Given the description of an element on the screen output the (x, y) to click on. 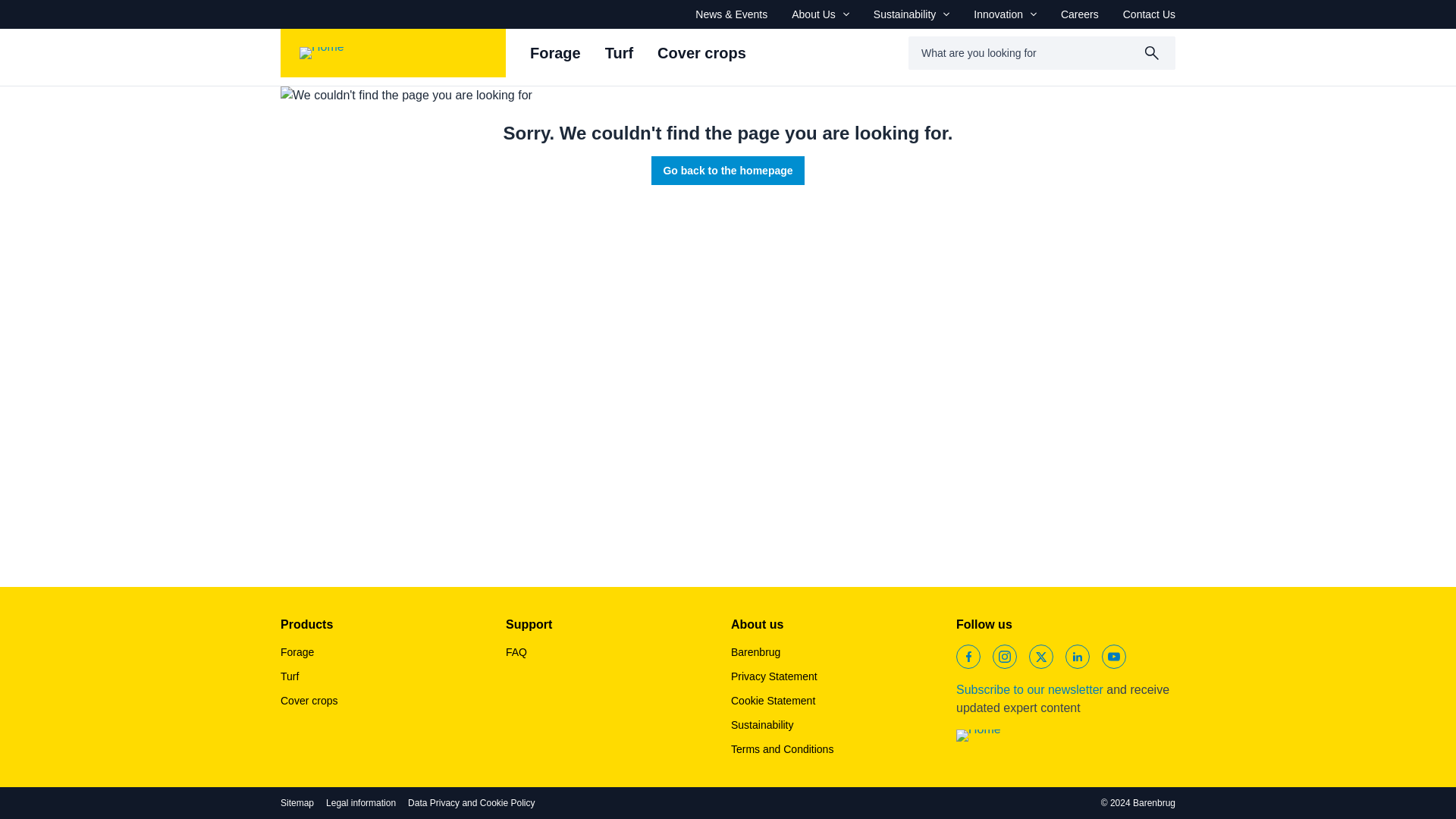
Sustainability (911, 14)
Innovation (1005, 14)
Contact Us (1148, 14)
About Us (820, 14)
Home (393, 52)
Home (1022, 735)
YouTube (1113, 656)
Careers (1080, 14)
Facebook (967, 656)
Instagram (1004, 656)
LinkedIn (1077, 656)
